Given the description of an element on the screen output the (x, y) to click on. 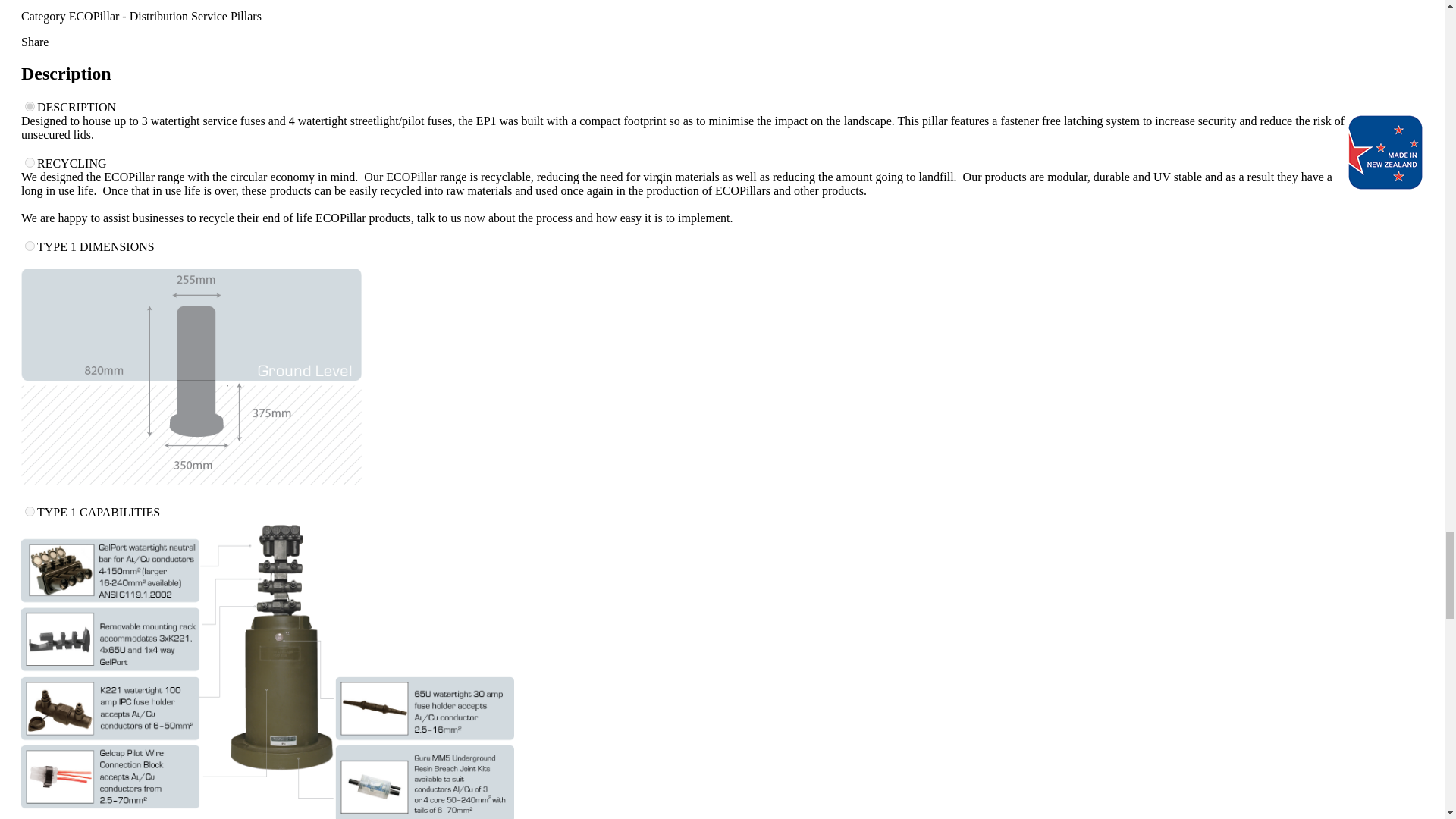
on (29, 162)
on (29, 511)
EP1 2 (191, 385)
on (29, 106)
Made in New Zealand TransNet icon (1385, 152)
on (29, 245)
